Given the description of an element on the screen output the (x, y) to click on. 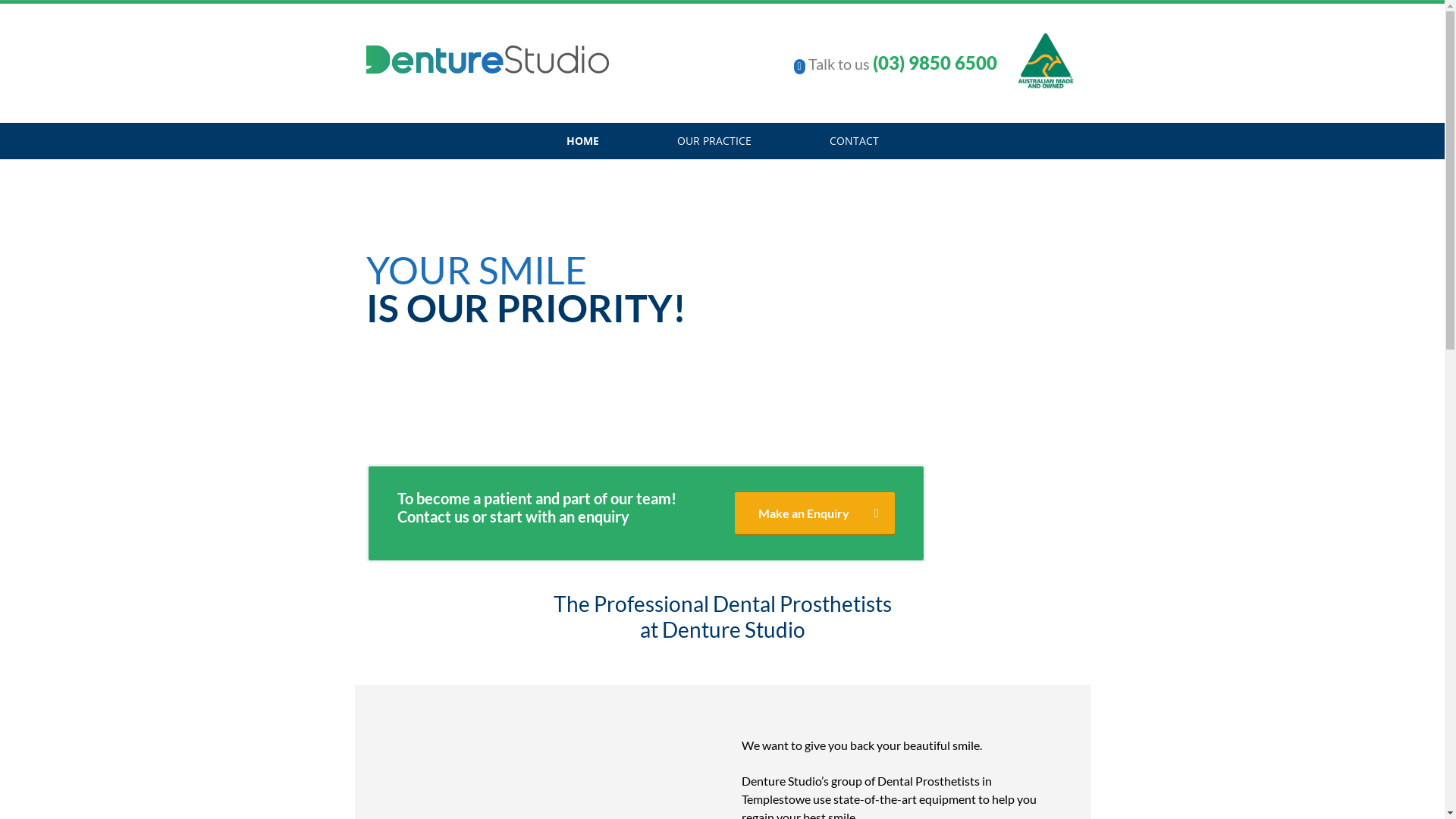
DENTURE STUDIO Element type: text (486, 53)
(03) 9850 6500 Element type: text (934, 62)
HOME Element type: text (581, 140)
OUR PRACTICE Element type: text (713, 140)
CONTACT Element type: text (853, 140)
Make an Enquiry Element type: text (814, 512)
